Given the description of an element on the screen output the (x, y) to click on. 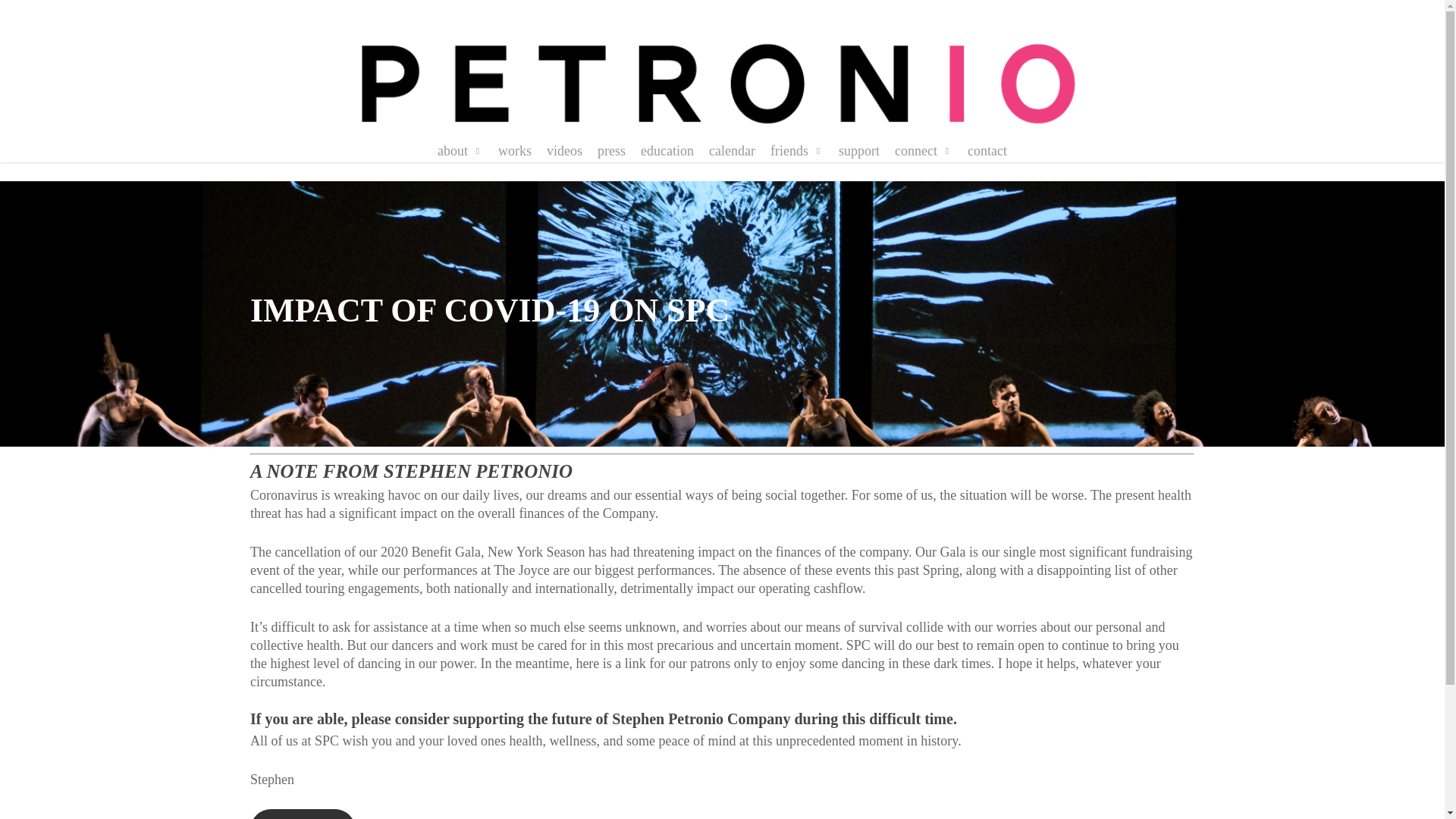
works (514, 151)
videos (564, 151)
press (611, 151)
education (667, 151)
connect (923, 151)
about (460, 151)
support (858, 151)
friends (797, 151)
contact (987, 151)
DONATE (302, 814)
calendar (732, 151)
